Given the description of an element on the screen output the (x, y) to click on. 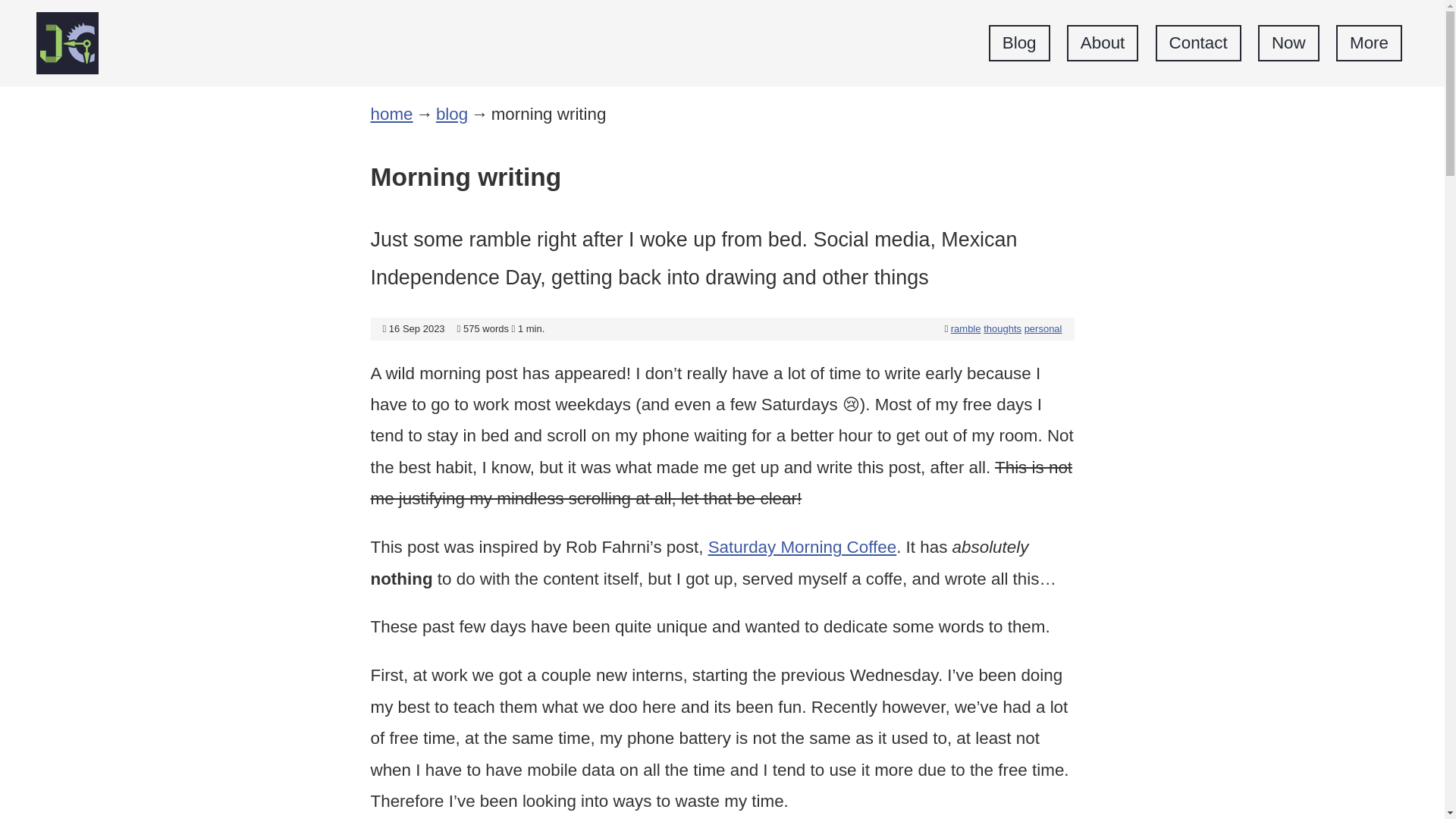
Now (1288, 43)
More (1369, 43)
Blog (1018, 43)
home (390, 113)
blog (451, 113)
Saturday Morning Coffee (801, 546)
personal (1043, 328)
ramble (965, 328)
thoughts (1003, 328)
About (1102, 43)
Contact (1198, 43)
